Given the description of an element on the screen output the (x, y) to click on. 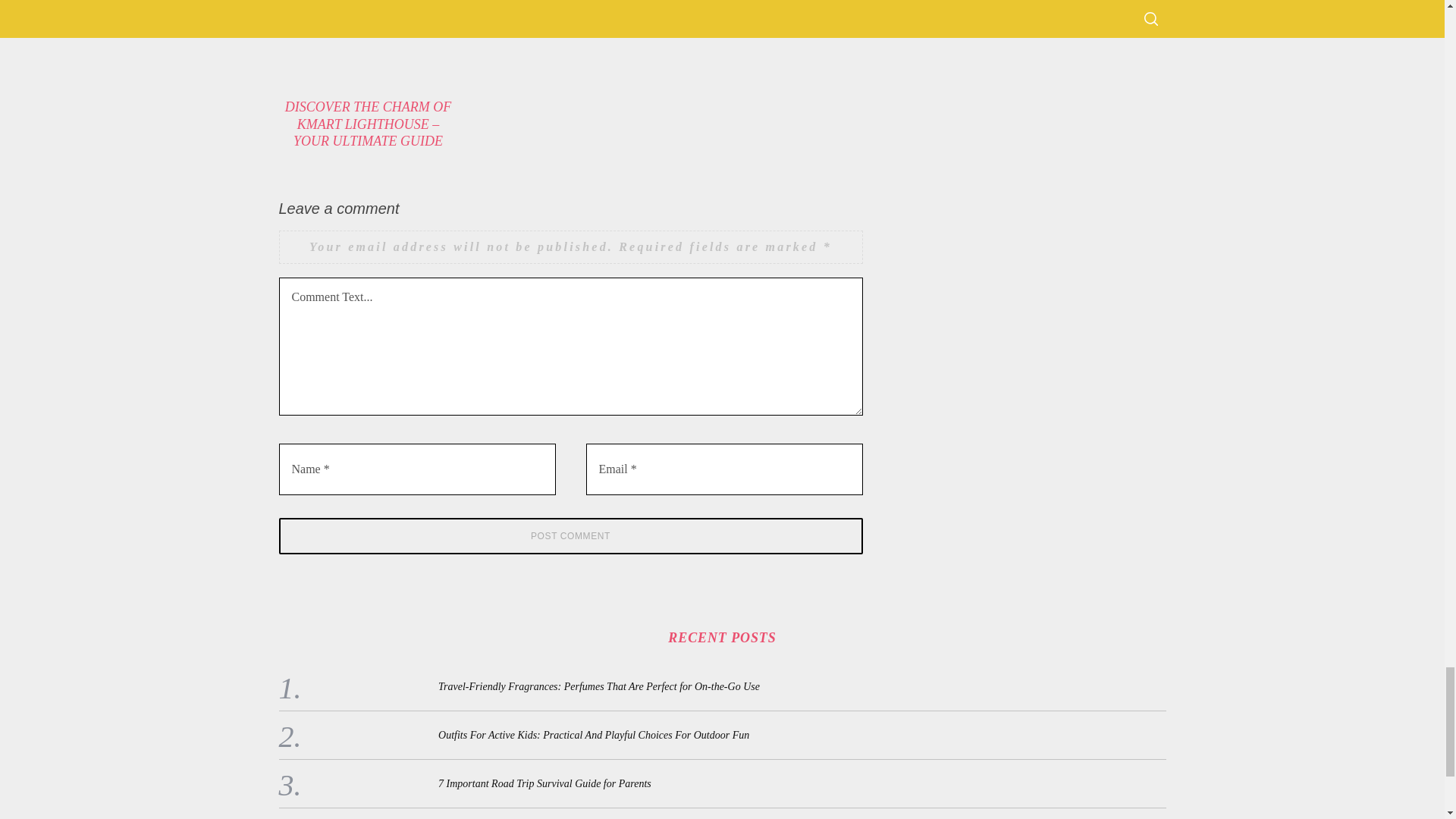
Post Comment (571, 535)
